Given the description of an element on the screen output the (x, y) to click on. 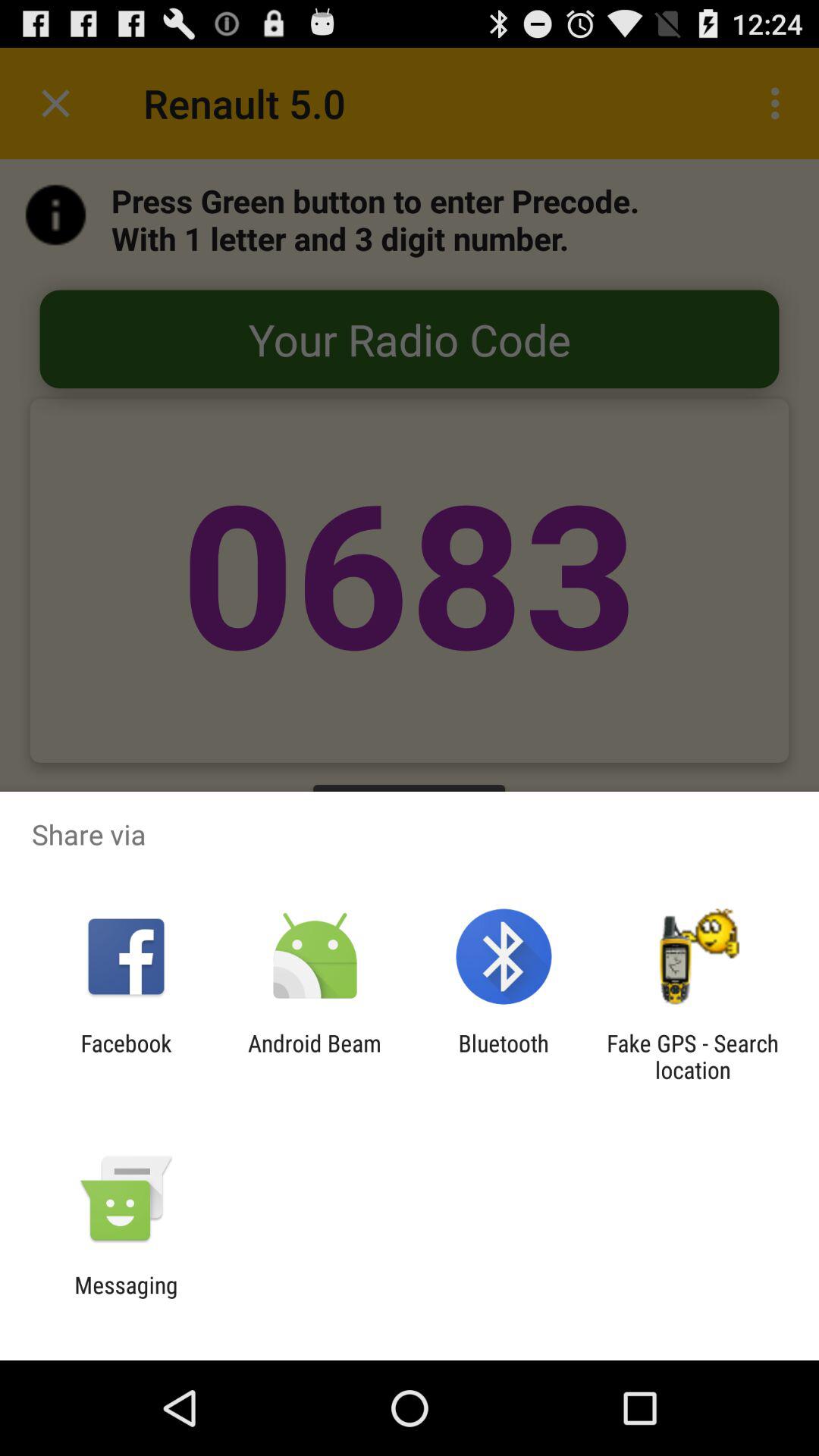
flip until the messaging icon (126, 1298)
